Given the description of an element on the screen output the (x, y) to click on. 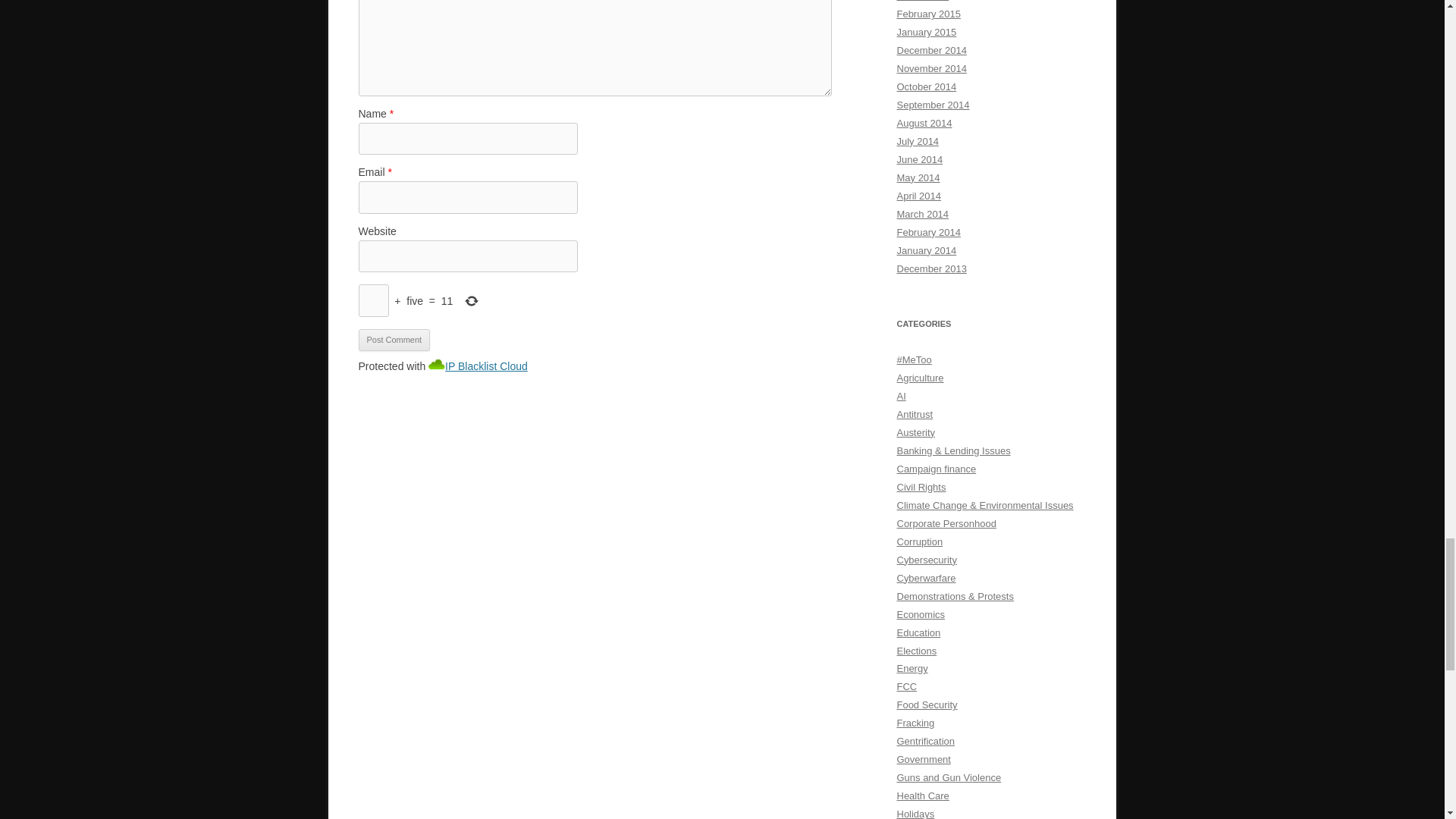
IP Blacklist Cloud (486, 366)
Post Comment (393, 340)
